Given the description of an element on the screen output the (x, y) to click on. 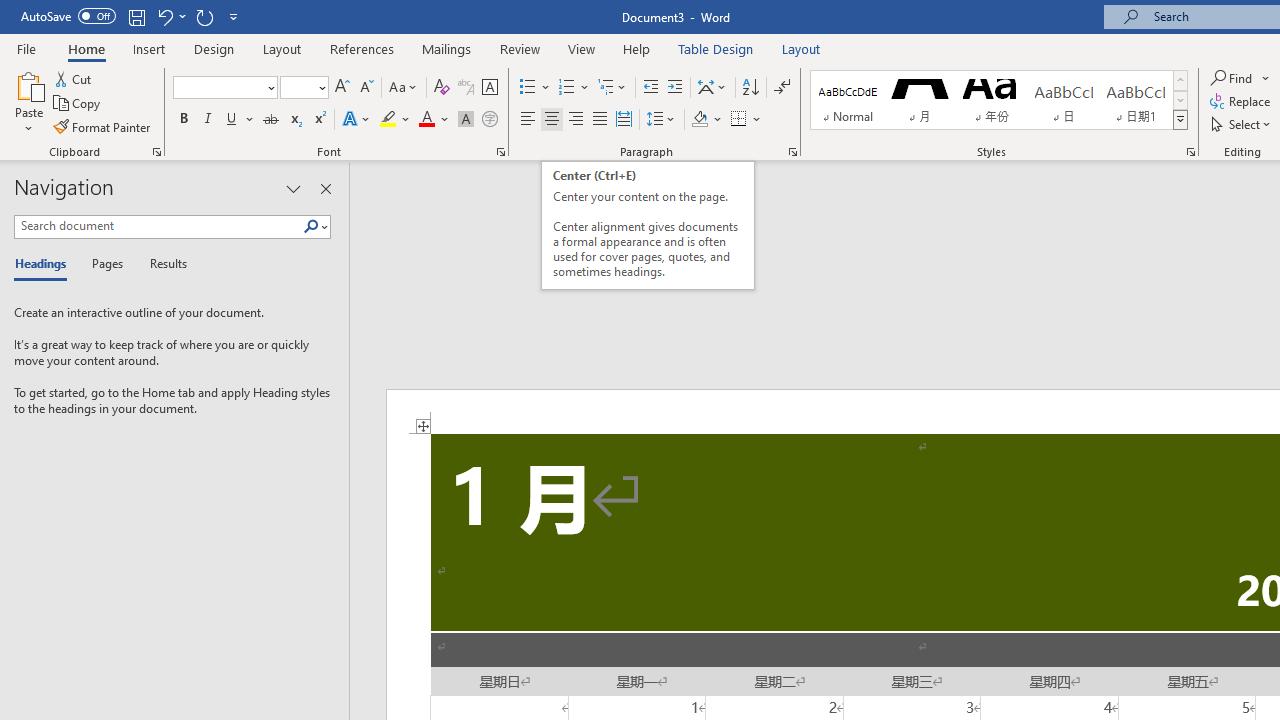
Enclose Characters... (489, 119)
Text Effects and Typography (357, 119)
Bold (183, 119)
Increase Indent (675, 87)
Asian Layout (712, 87)
Font... (500, 151)
